Given the description of an element on the screen output the (x, y) to click on. 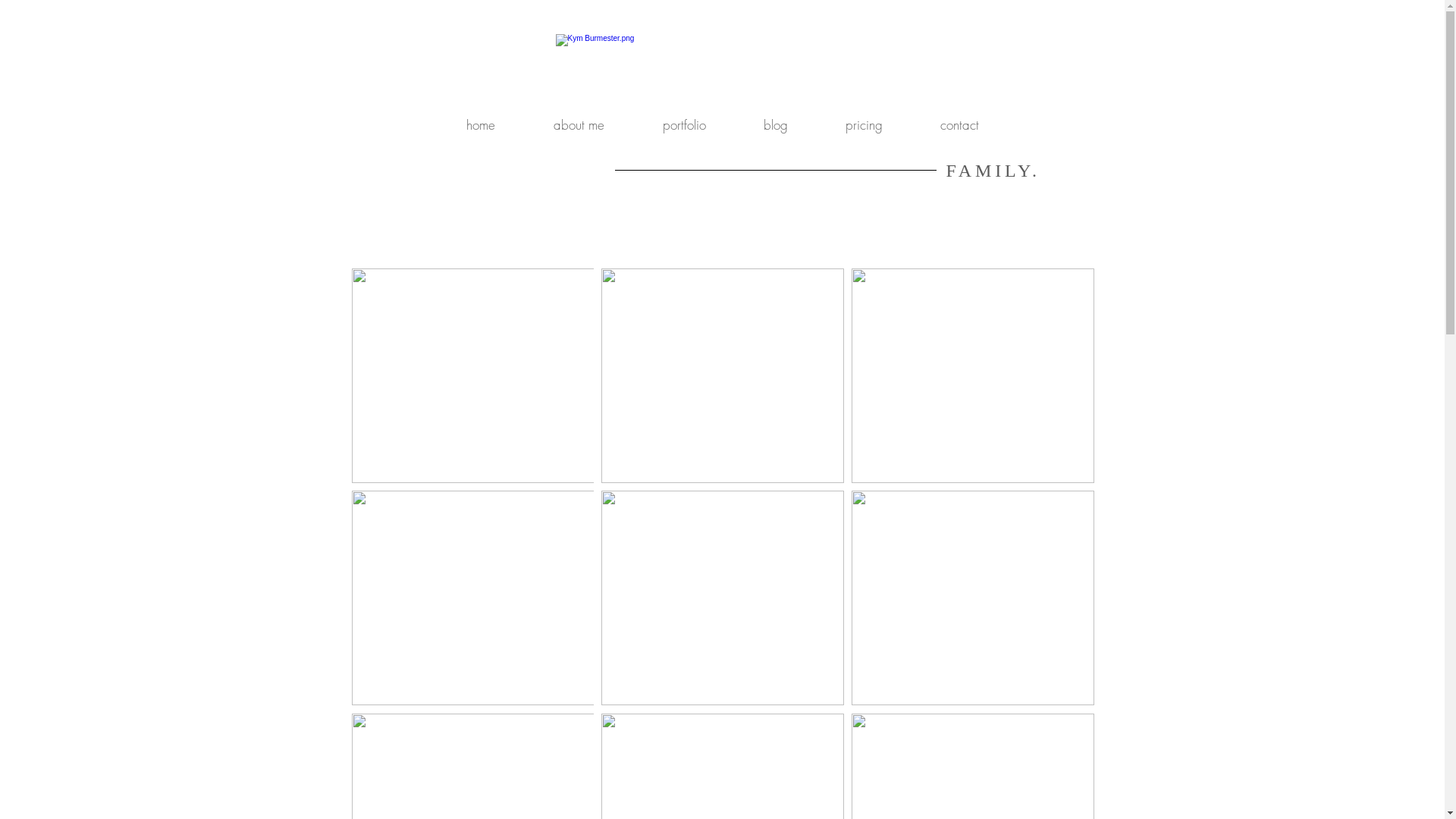
blog Element type: text (775, 124)
contact Element type: text (959, 124)
pricing Element type: text (864, 124)
about me Element type: text (578, 124)
home Element type: text (479, 124)
